Given the description of an element on the screen output the (x, y) to click on. 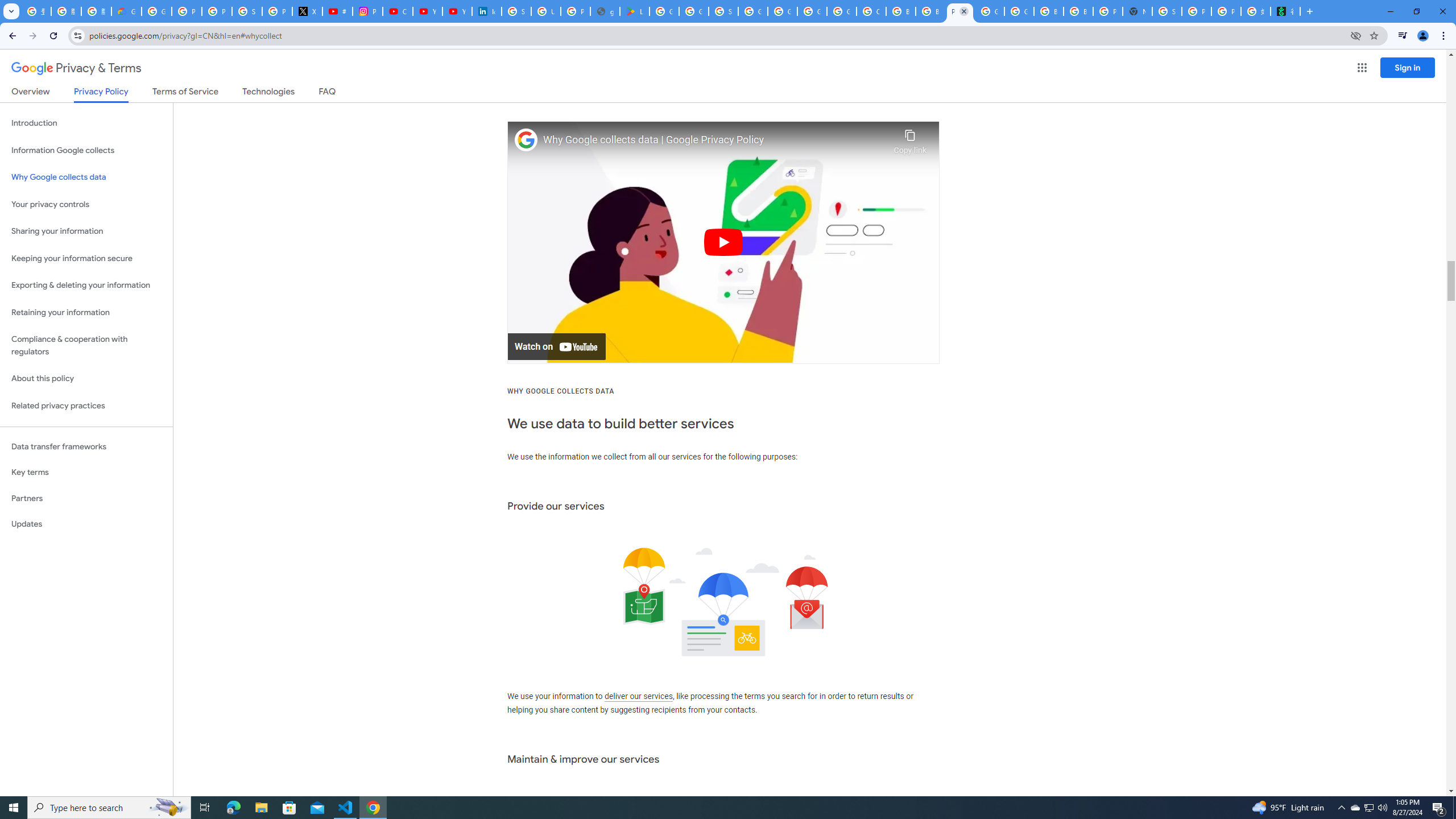
Compliance & cooperation with regulators (86, 345)
Privacy & Terms (76, 68)
X (306, 11)
Information Google collects (86, 150)
Your privacy controls (86, 204)
Sign in - Google Accounts (1166, 11)
Google Workspace - Specific Terms (693, 11)
Browse Chrome as a guest - Computer - Google Chrome Help (900, 11)
